Given the description of an element on the screen output the (x, y) to click on. 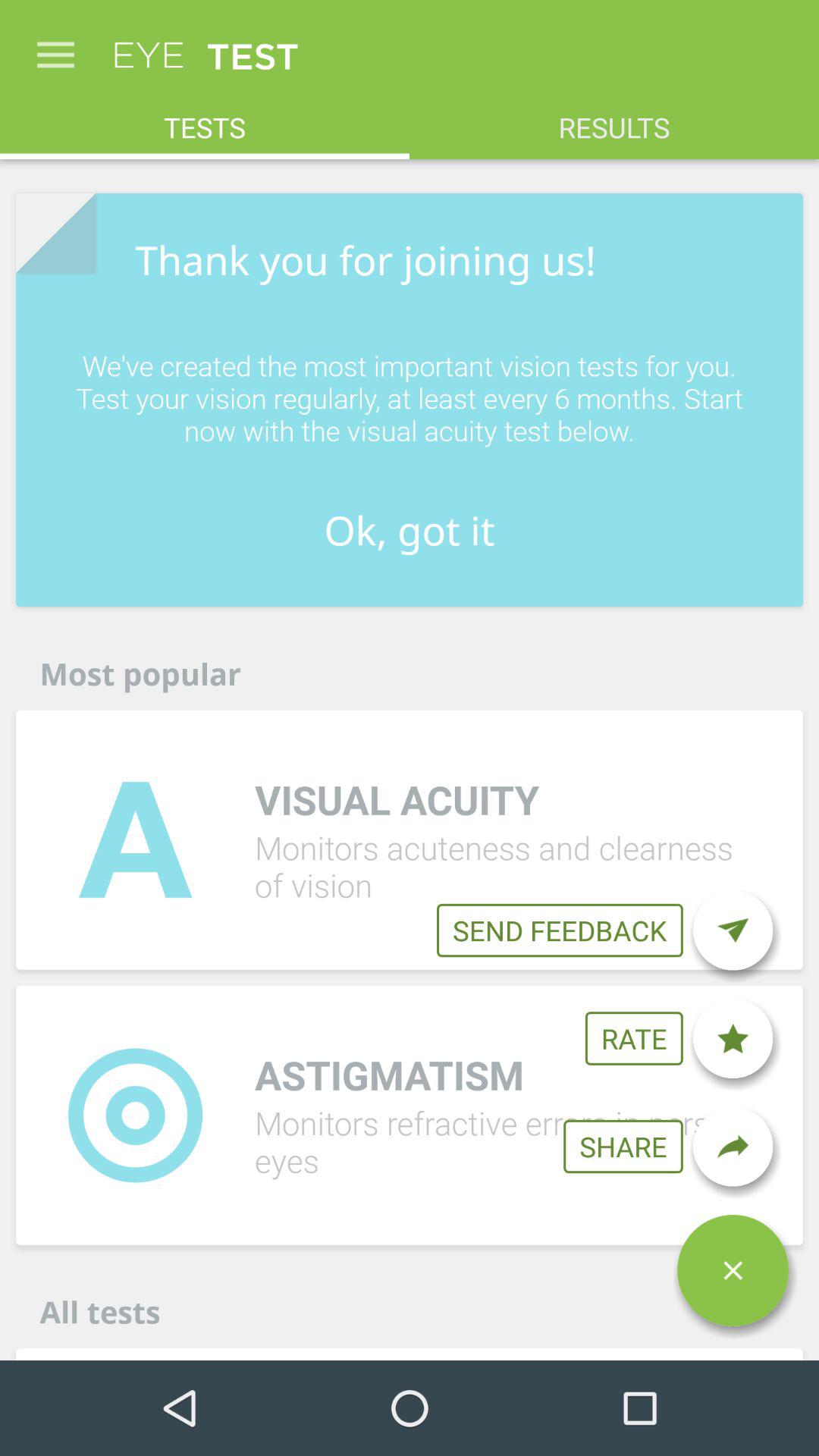
press item next to tests (614, 119)
